Given the description of an element on the screen output the (x, y) to click on. 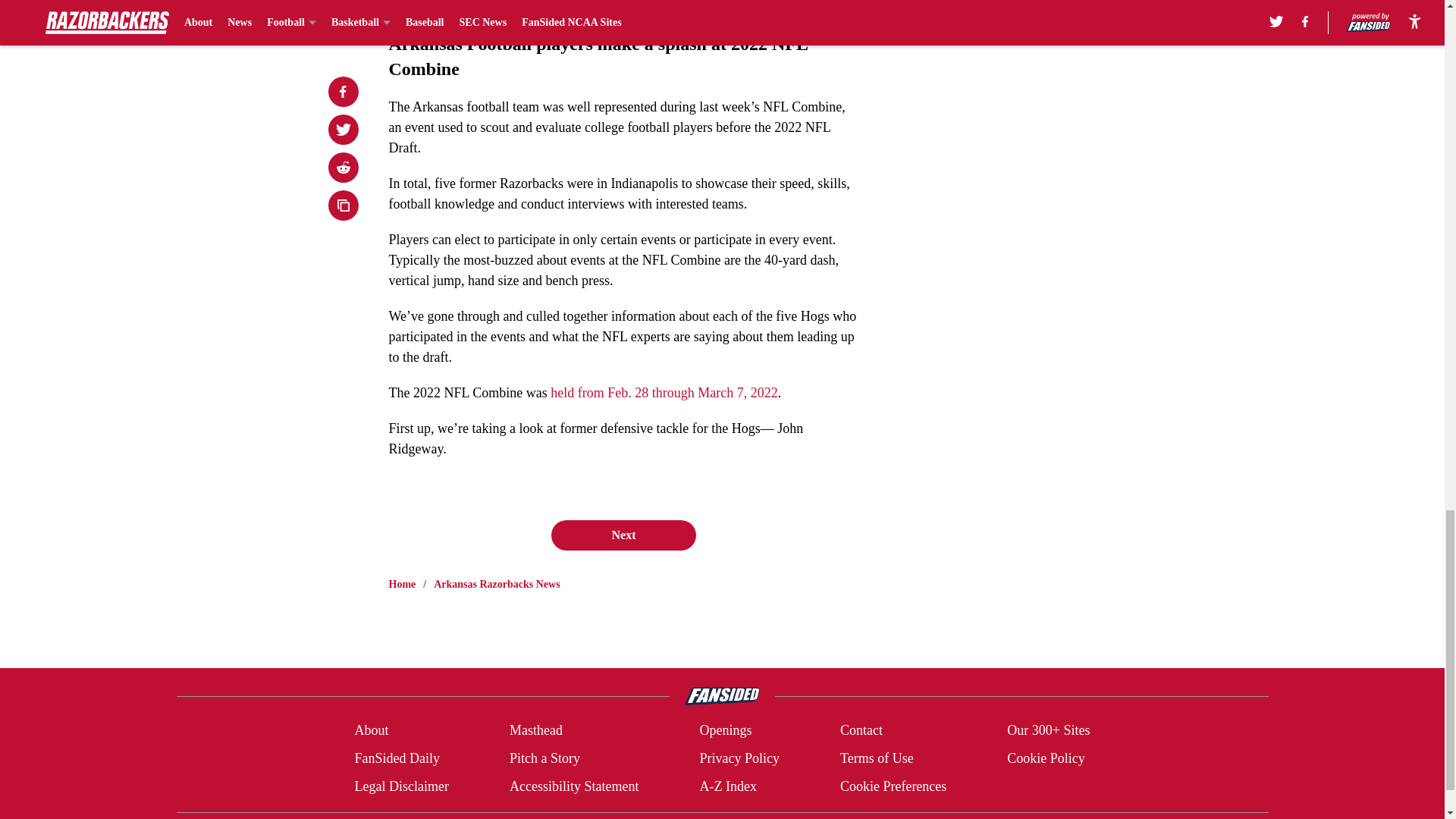
Pitch a Story (544, 758)
Masthead (535, 730)
FanSided Daily (396, 758)
About (370, 730)
held from Feb. 28 through March 7, 2022 (663, 392)
Home (401, 584)
Privacy Policy (738, 758)
Arkansas Razorbacks News (496, 584)
Legal Disclaimer (400, 786)
Cookie Policy (1045, 758)
Contact (861, 730)
Next (622, 535)
Openings (724, 730)
Terms of Use (877, 758)
